Given the description of an element on the screen output the (x, y) to click on. 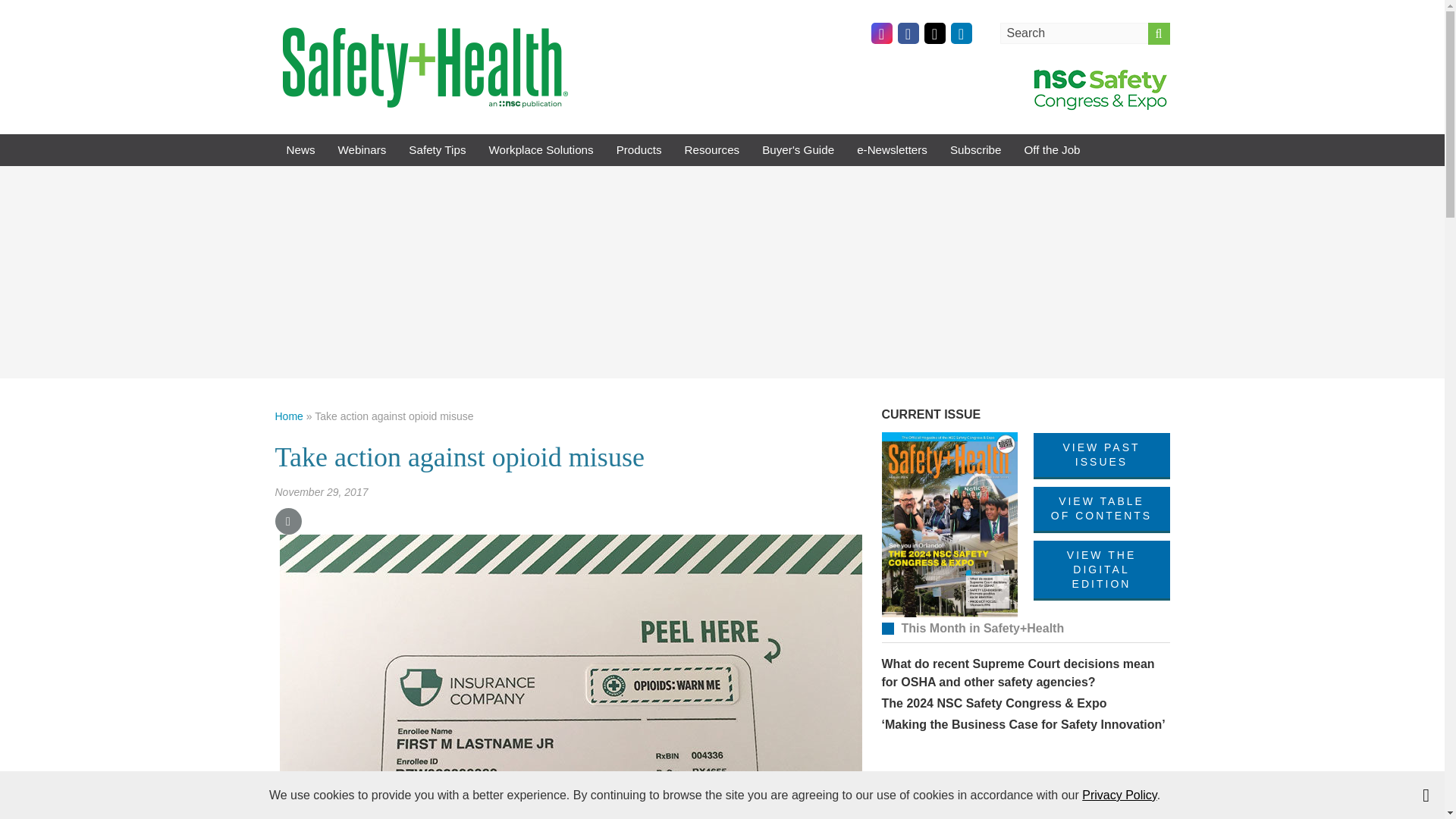
Privacy Policy (1118, 794)
Webinars (361, 150)
Safety Tips (437, 150)
News (300, 150)
